Given the description of an element on the screen output the (x, y) to click on. 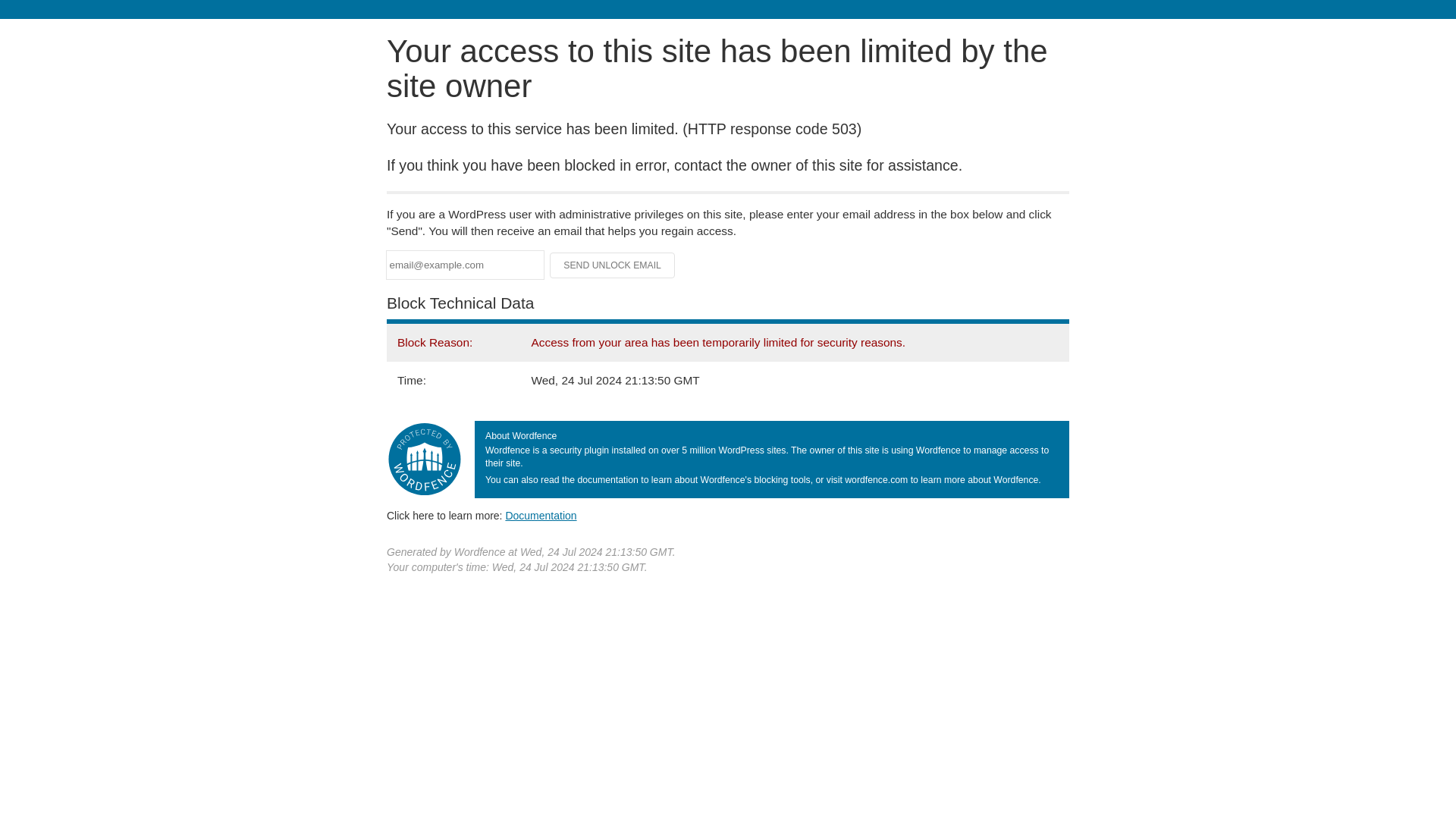
Send Unlock Email (612, 265)
Send Unlock Email (612, 265)
Documentation (540, 515)
